Given the description of an element on the screen output the (x, y) to click on. 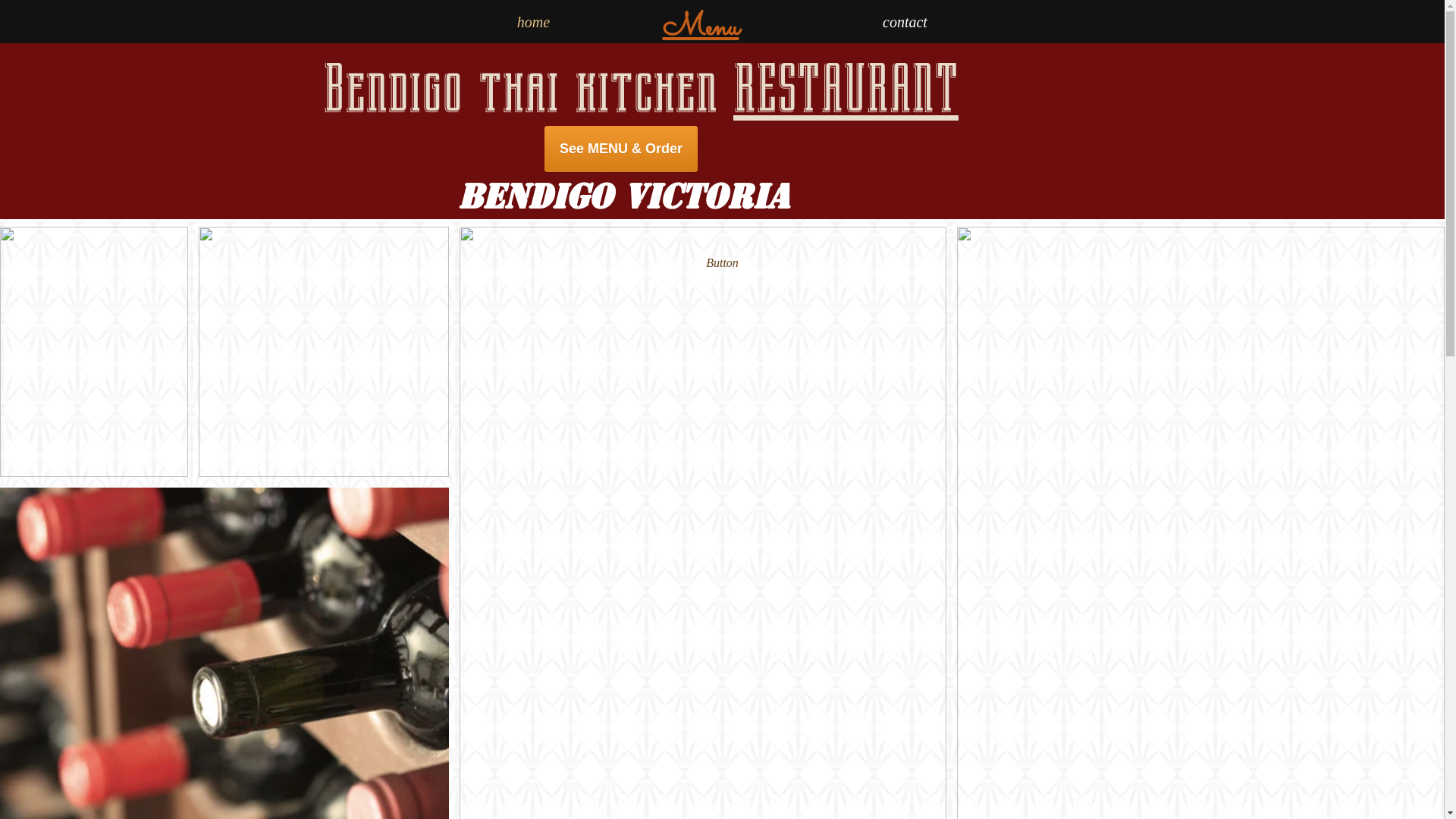
RESTAURANT Element type: text (845, 88)
Bendigo thai kitchen  Element type: text (528, 88)
Menu Element type: text (700, 28)
home Element type: text (532, 21)
Bendigo Victoria Element type: text (623, 196)
contact Element type: text (904, 21)
Embedded Content Element type: hover (629, 153)
